Given the description of an element on the screen output the (x, y) to click on. 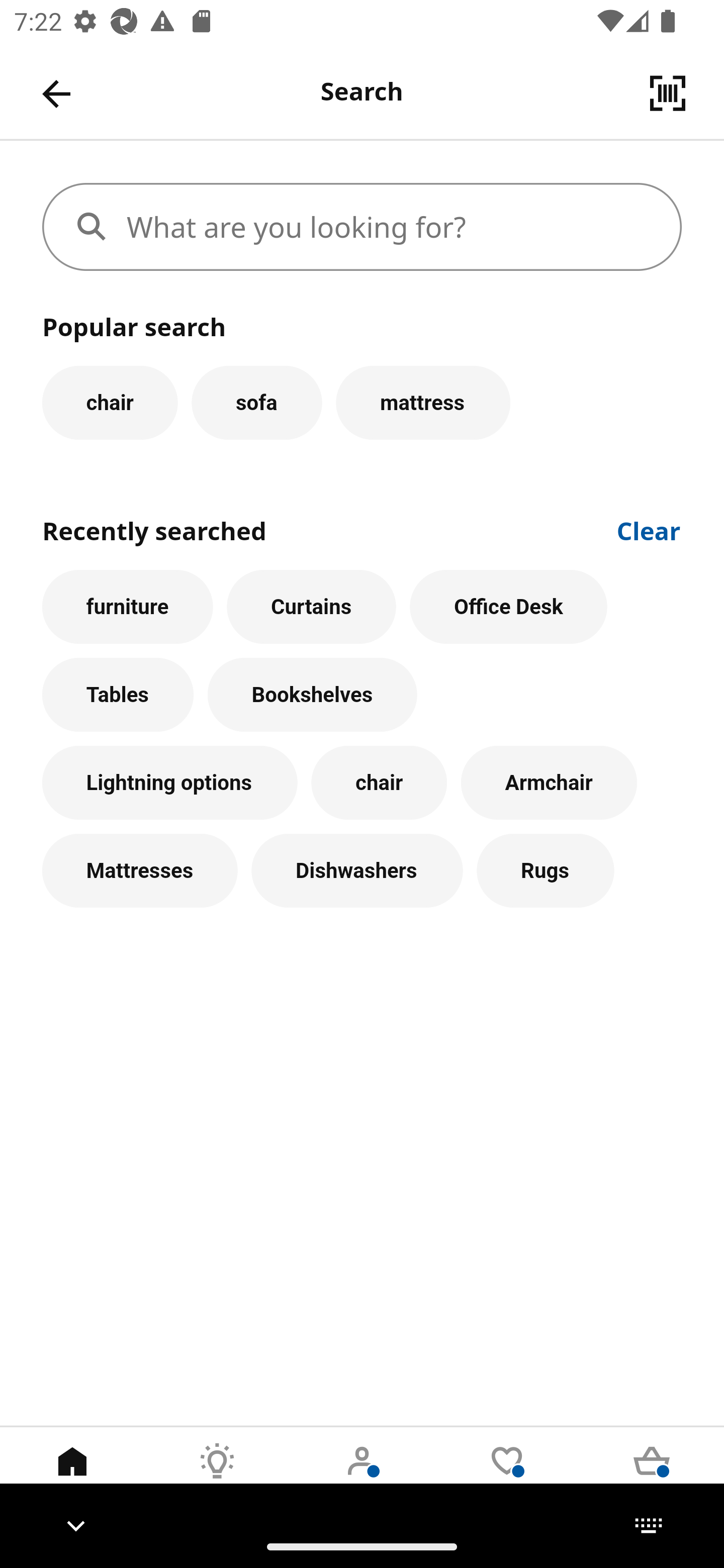
chair (109, 402)
sofa (256, 402)
mattress (423, 402)
Clear (649, 528)
furniture (126, 606)
Curtains (311, 606)
Office Desk (508, 606)
Tables (117, 695)
Bookshelves (312, 695)
Lightning options (169, 783)
chair (379, 783)
Armchair (549, 783)
Mattresses (139, 870)
Dishwashers (357, 870)
Rugs (545, 870)
Home
Tab 1 of 5 (72, 1476)
Inspirations
Tab 2 of 5 (216, 1476)
User
Tab 3 of 5 (361, 1476)
Wishlist
Tab 4 of 5 (506, 1476)
Cart
Tab 5 of 5 (651, 1476)
